Given the description of an element on the screen output the (x, y) to click on. 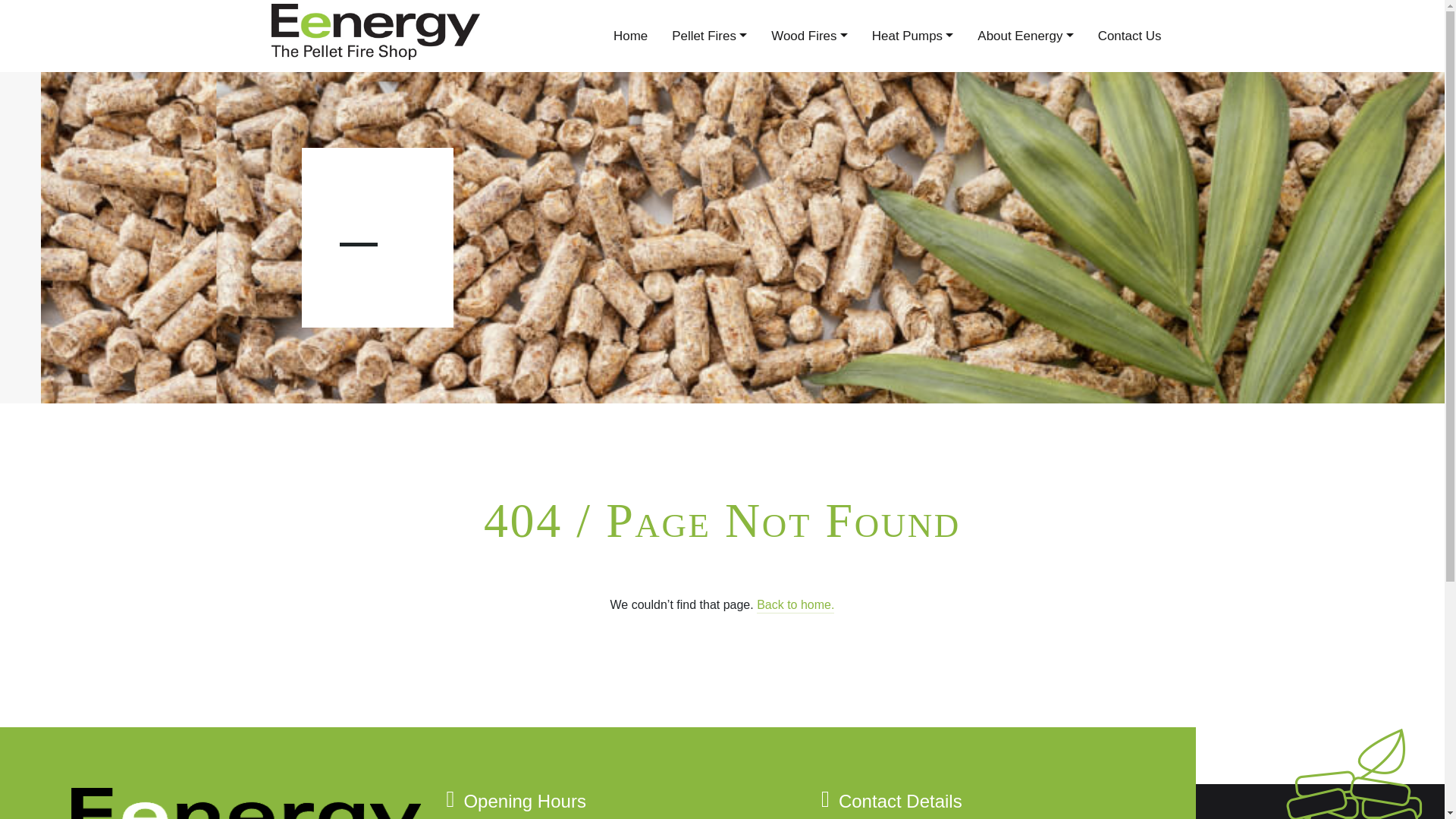
Back to home. (795, 605)
Wood Fires (809, 35)
About Eenergy (1024, 35)
About Eenergy (1024, 35)
Heat Pumps (912, 35)
Contact Us (1129, 35)
Pellet Fires (708, 35)
Pellet Fires (708, 35)
Wood Fires (809, 35)
Heat Pumps (912, 35)
